Given the description of an element on the screen output the (x, y) to click on. 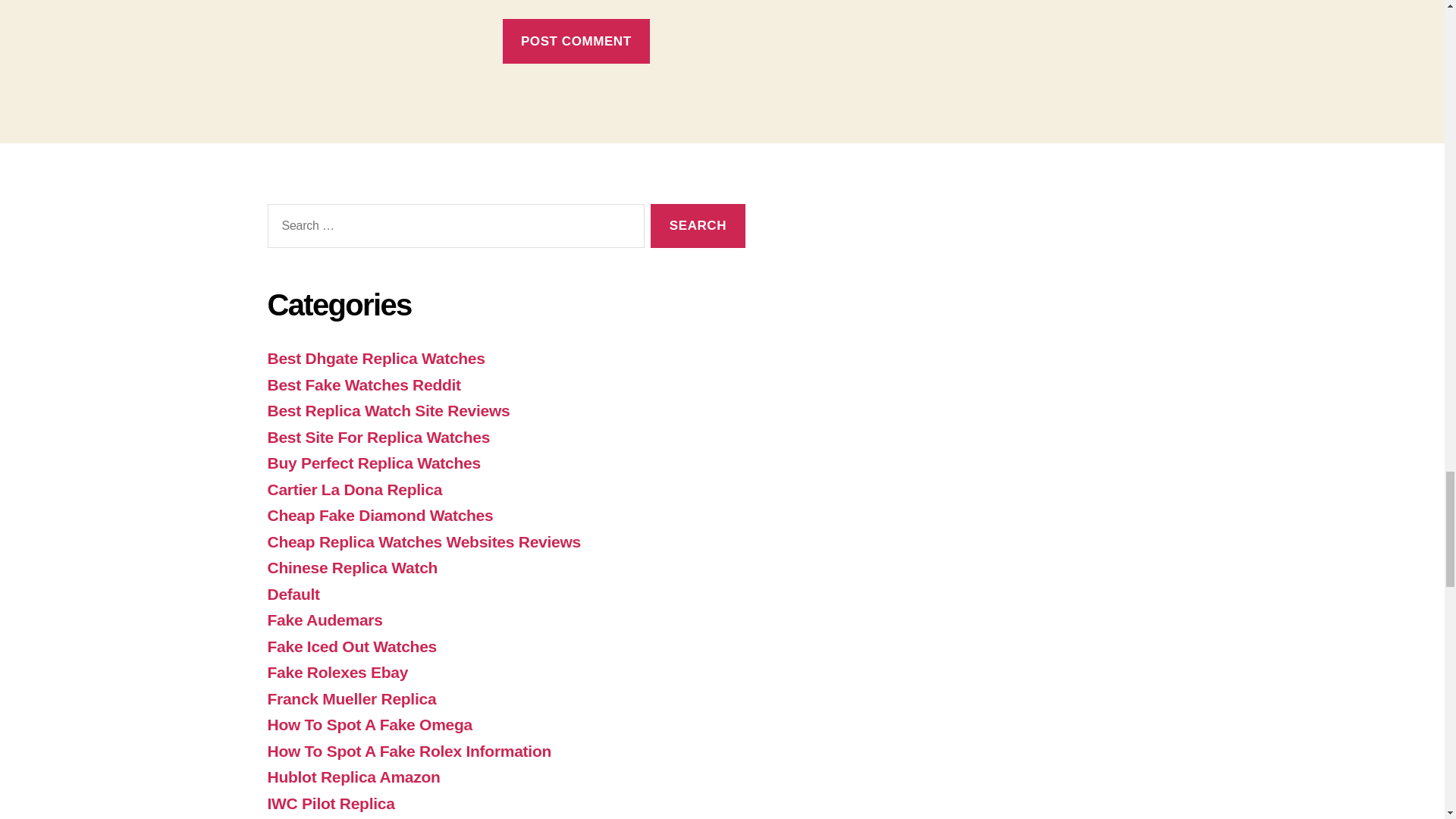
Buy Perfect Replica Watches (373, 462)
Search (697, 225)
Search (697, 225)
Post Comment (575, 40)
Best Replica Watch Site Reviews (387, 410)
Cheap Replica Watches Websites Reviews (422, 541)
Best Dhgate Replica Watches (375, 357)
Fake Audemars (323, 619)
Post Comment (575, 40)
Chinese Replica Watch (352, 567)
Default (292, 593)
Cartier La Dona Replica (354, 488)
Best Fake Watches Reddit (363, 384)
Cheap Fake Diamond Watches (379, 515)
Fake Iced Out Watches (350, 646)
